Given the description of an element on the screen output the (x, y) to click on. 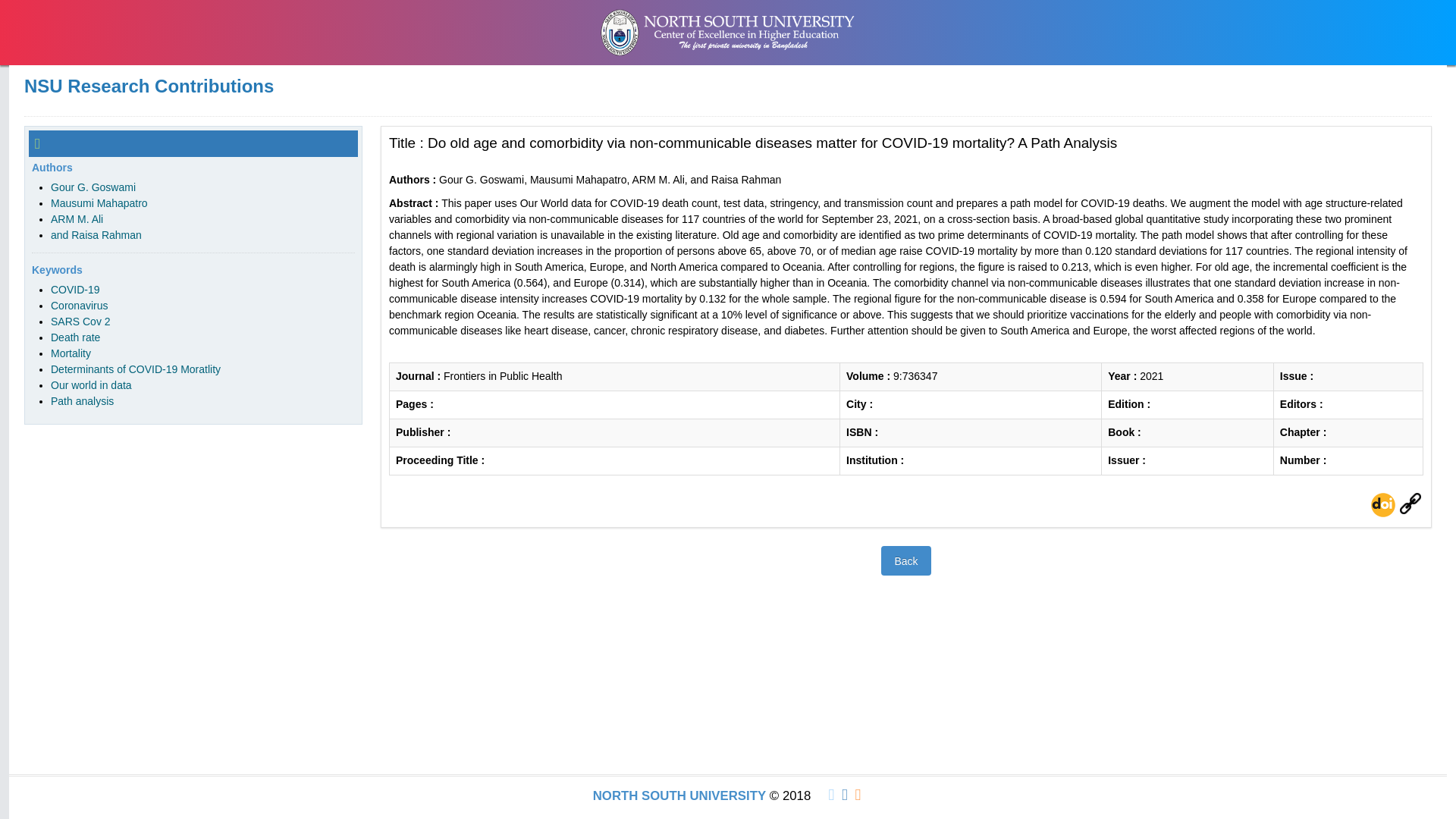
ARM M. Ali (76, 218)
Back (905, 560)
Determinants of COVID-19 Moratlity (135, 369)
Gour G. Goswami (92, 186)
Path analysis (81, 400)
Our world in data (91, 385)
Mausumi Mahapatro (99, 203)
Death rate (75, 337)
SARS Cov 2 (80, 321)
Mortality (70, 353)
and Raisa Rahman (95, 234)
Coronavirus (78, 305)
COVID-19 (75, 289)
